Given the description of an element on the screen output the (x, y) to click on. 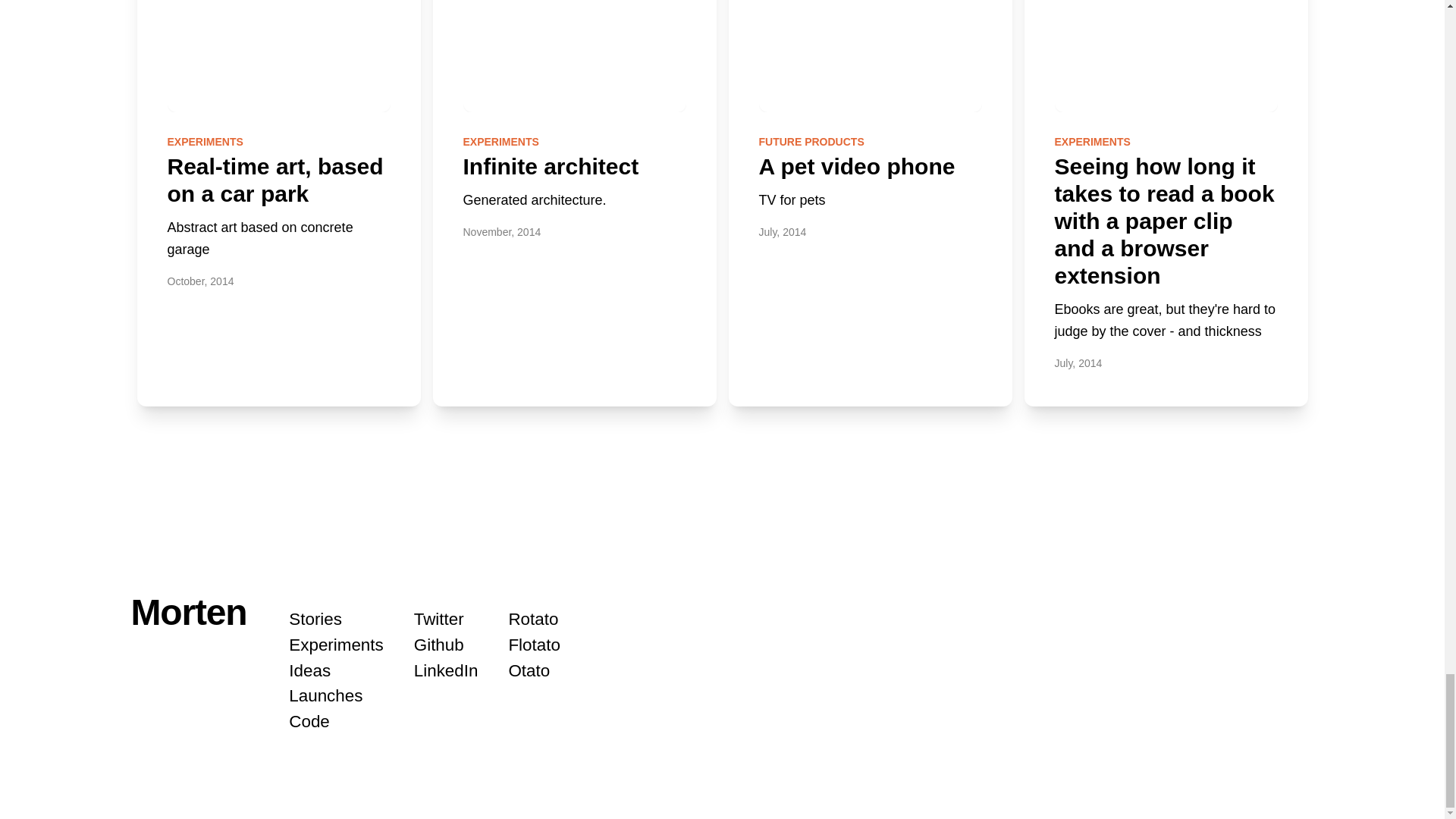
Otato (529, 670)
Twitter (438, 618)
Rotato (532, 618)
Real-time art, based on a car park (274, 179)
Infinite architect (551, 166)
Stories (315, 618)
Flotato (533, 644)
EXPERIMENTS (500, 141)
Ideas (309, 670)
Code (309, 721)
